Given the description of an element on the screen output the (x, y) to click on. 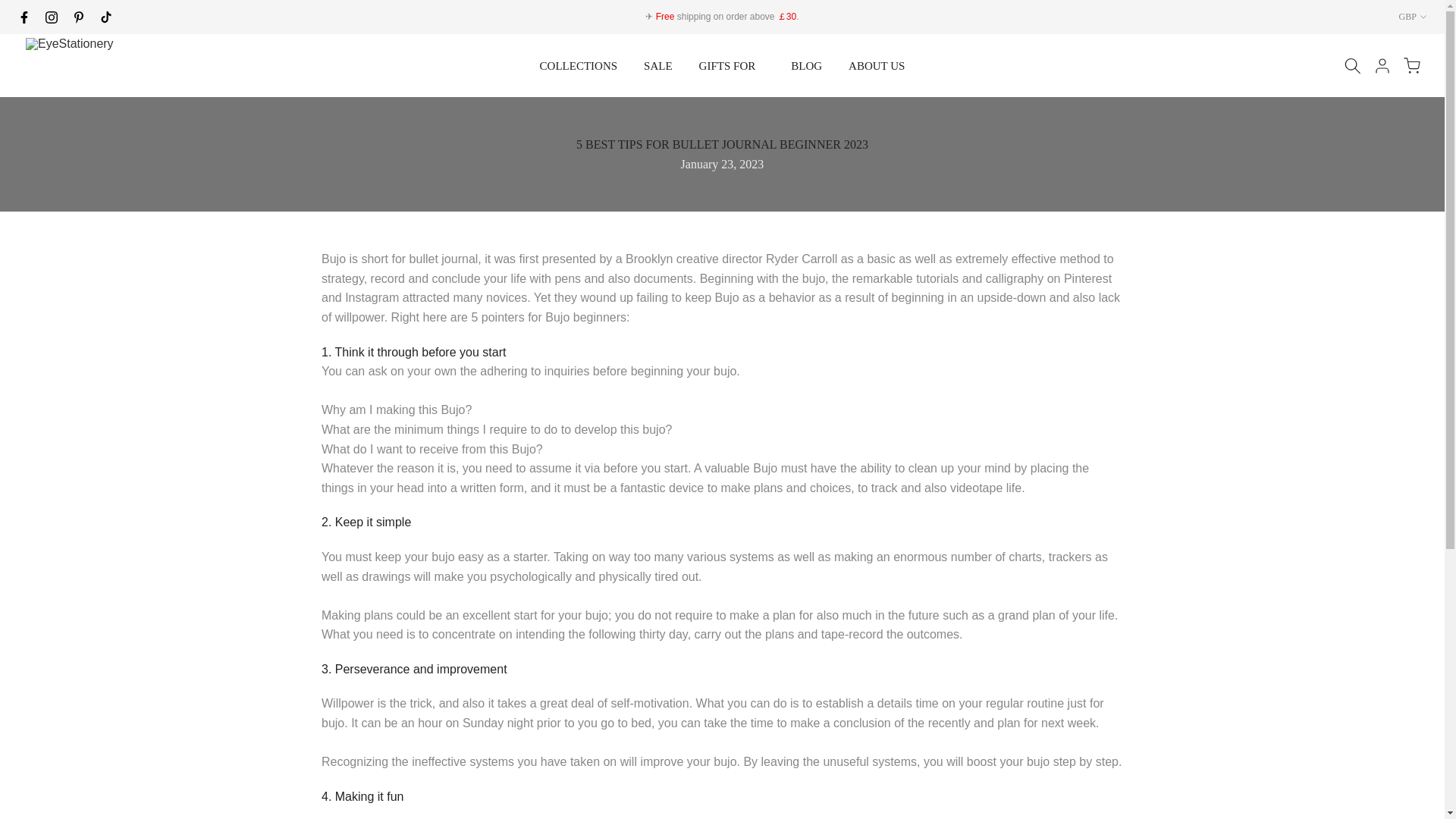
Skip to content (10, 7)
BLOG (806, 65)
ABOUT US (876, 65)
COLLECTIONS (577, 65)
SALE (657, 65)
GIFTS FOR (731, 65)
GBP (1412, 16)
